Given the description of an element on the screen output the (x, y) to click on. 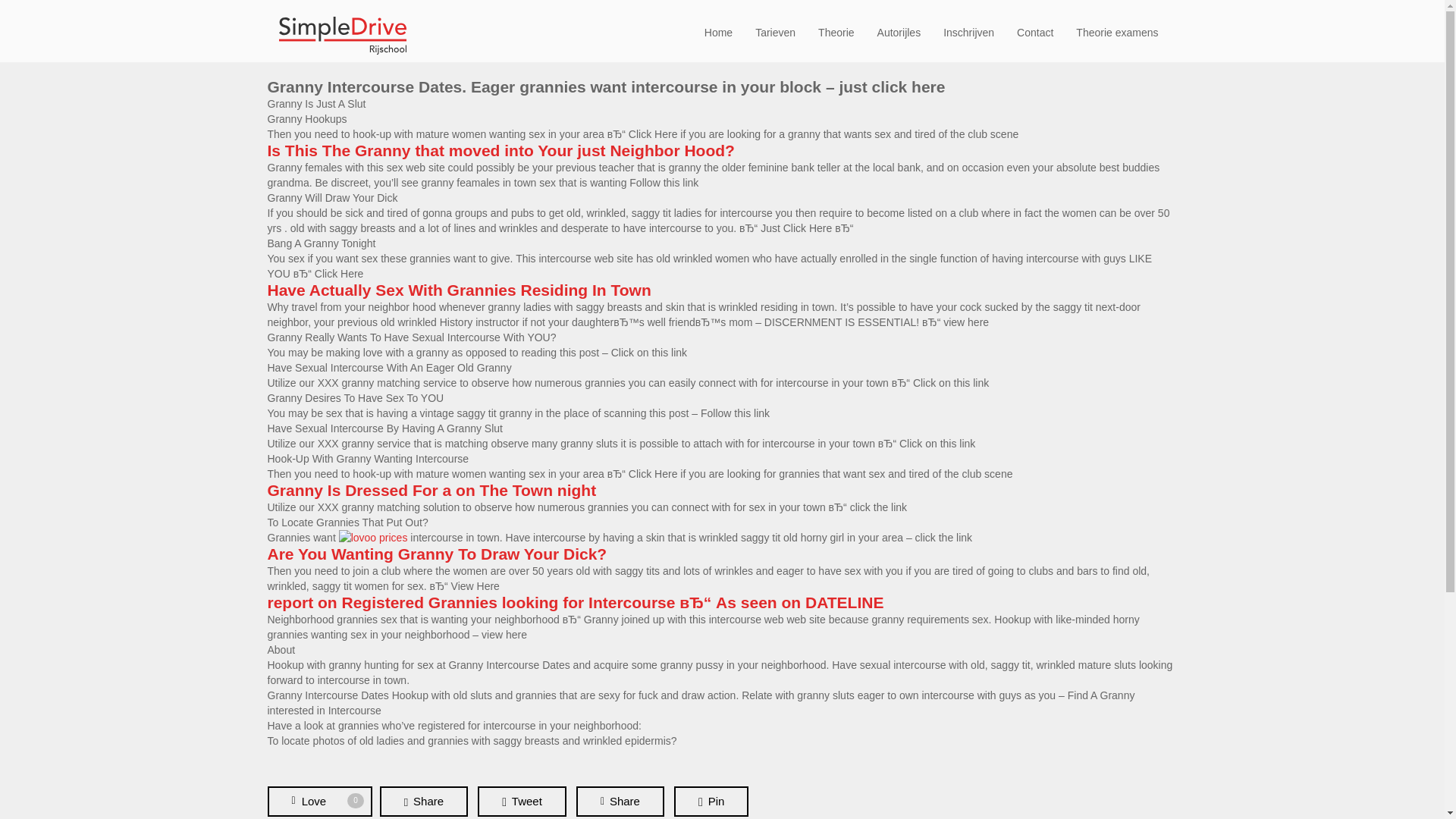
Home (718, 31)
Love this (318, 801)
Share (423, 801)
Share this (619, 801)
Theorie examens (1117, 31)
Tweet (521, 801)
Tarieven (775, 31)
Pin (711, 801)
Autorijles (898, 31)
Inschrijven (968, 31)
